Given the description of an element on the screen output the (x, y) to click on. 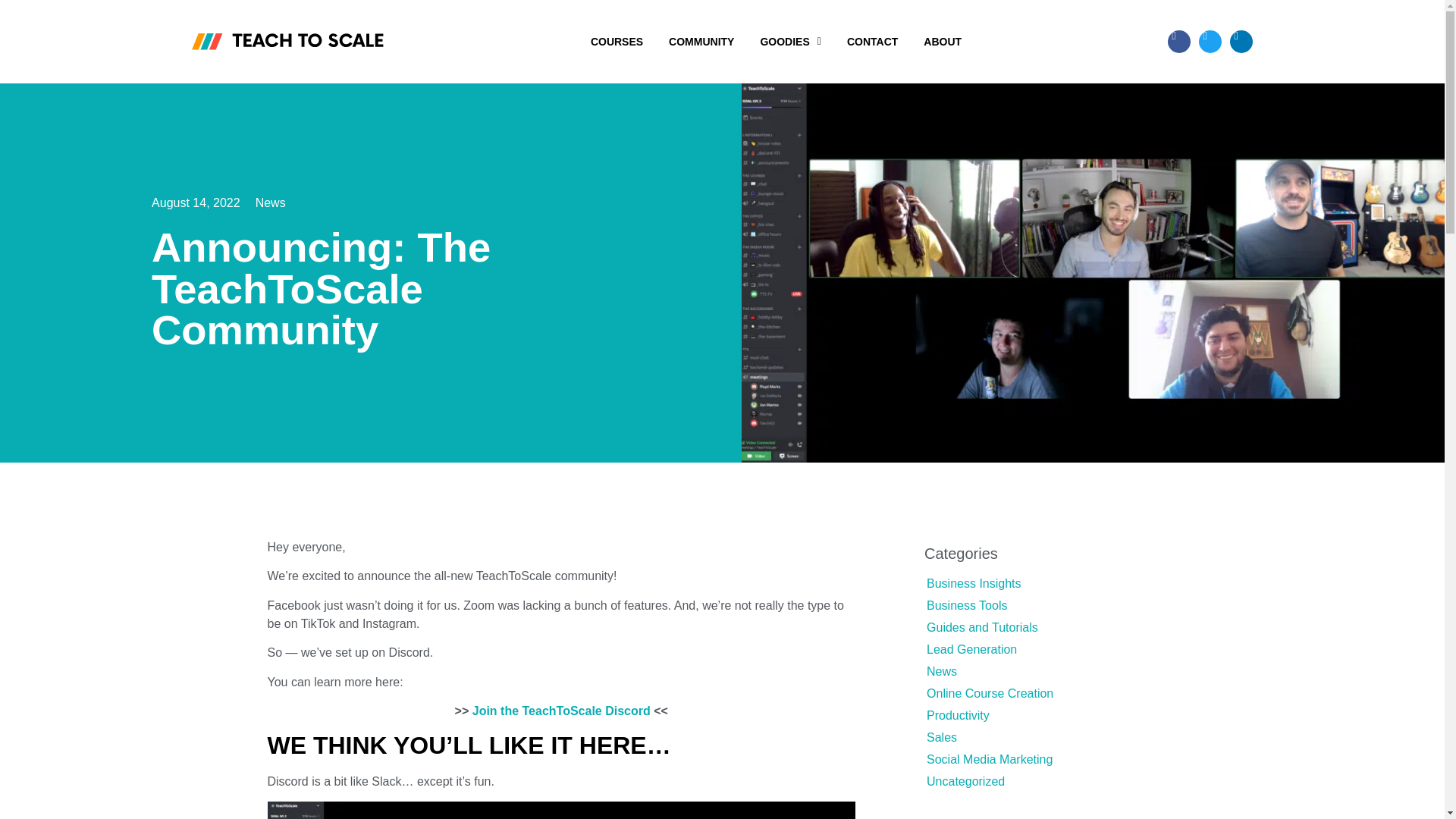
Guides and Tutorials (982, 626)
August 14, 2022 (195, 203)
Lead Generation (971, 649)
News (270, 202)
COURSES (617, 41)
COMMUNITY (701, 41)
ABOUT (942, 41)
Join the TeachToScale Discord (560, 710)
CONTACT (872, 41)
GOODIES (789, 41)
Business Tools (966, 604)
Business Insights (974, 583)
